Given the description of an element on the screen output the (x, y) to click on. 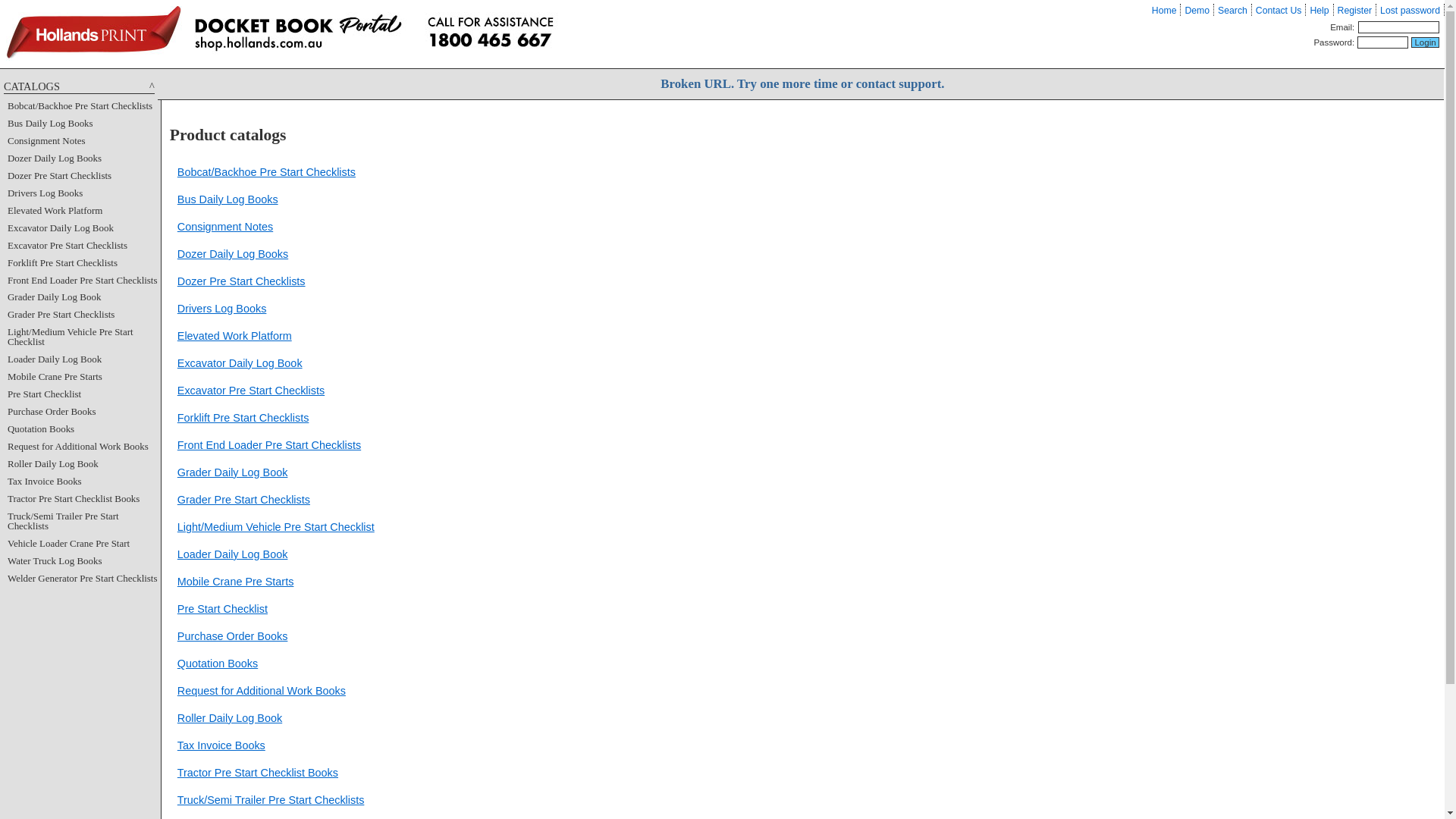
Bobcat/Backhoe Pre Start Checklists Element type: text (79, 105)
Help Element type: text (1318, 10)
Tractor Pre Start Checklist Books Element type: text (73, 498)
Search Element type: text (1232, 10)
Water Truck Log Books Element type: text (54, 560)
Lost password Element type: text (1410, 10)
Welder Generator Pre Start Checklists Element type: text (82, 577)
^
CATALOGS Element type: text (78, 87)
Dozer Pre Start Checklists Element type: text (59, 175)
Front End Loader Pre Start Checklists Element type: text (268, 445)
Demo Element type: text (1196, 10)
Excavator Pre Start Checklists Element type: text (250, 390)
Consignment Notes Element type: text (225, 226)
Quotation Books Element type: text (40, 428)
Drivers Log Books Element type: text (44, 192)
Register Element type: text (1354, 10)
Grader Daily Log Book Element type: text (53, 296)
Loader Daily Log Book Element type: text (54, 358)
Light/Medium Vehicle Pre Start Checklist Element type: text (275, 526)
Truck/Semi Trailer Pre Start Checklists Element type: text (63, 520)
Grader Pre Start Checklists Element type: text (60, 314)
Tractor Pre Start Checklist Books Element type: text (257, 772)
Grader Daily Log Book Element type: text (232, 472)
Elevated Work Platform Element type: text (234, 335)
Purchase Order Books Element type: text (51, 411)
Roller Daily Log Book Element type: text (229, 718)
Request for Additional Work Books Element type: text (261, 690)
Pre Start Checklist Element type: text (44, 393)
Vehicle Loader Crane Pre Start Element type: text (68, 543)
Forklift Pre Start Checklists Element type: text (243, 417)
Home Element type: text (1163, 10)
Bobcat/Backhoe Pre Start Checklists Element type: text (266, 172)
Forklift Pre Start Checklists Element type: text (62, 262)
Consignment Notes Element type: text (46, 140)
Bus Daily Log Books Element type: text (50, 122)
Request for Additional Work Books Element type: text (77, 445)
Tax Invoice Books Element type: text (221, 745)
Light/Medium Vehicle Pre Start Checklist Element type: text (70, 336)
Pre Start Checklist Element type: text (222, 608)
Front End Loader Pre Start Checklists Element type: text (82, 279)
Excavator Daily Log Book Element type: text (60, 227)
Quotation Books Element type: text (217, 663)
Truck/Semi Trailer Pre Start Checklists Element type: text (270, 799)
Drivers Log Books Element type: text (221, 308)
Excavator Pre Start Checklists Element type: text (67, 245)
PRINTER Element type: text (361, 45)
Dozer Daily Log Books Element type: text (232, 253)
Bus Daily Log Books Element type: text (227, 199)
Mobile Crane Pre Starts Element type: text (54, 376)
Loader Daily Log Book Element type: text (232, 554)
Dozer Daily Log Books Element type: text (54, 157)
Excavator Daily Log Book Element type: text (239, 363)
Contact Us Element type: text (1278, 10)
Tax Invoice Books Element type: text (44, 480)
Dozer Pre Start Checklists Element type: text (241, 281)
Roller Daily Log Book Element type: text (52, 463)
Login Element type: text (1425, 42)
Mobile Crane Pre Starts Element type: text (235, 581)
Elevated Work Platform Element type: text (54, 210)
Purchase Order Books Element type: text (232, 636)
Grader Pre Start Checklists Element type: text (243, 499)
